Given the description of an element on the screen output the (x, y) to click on. 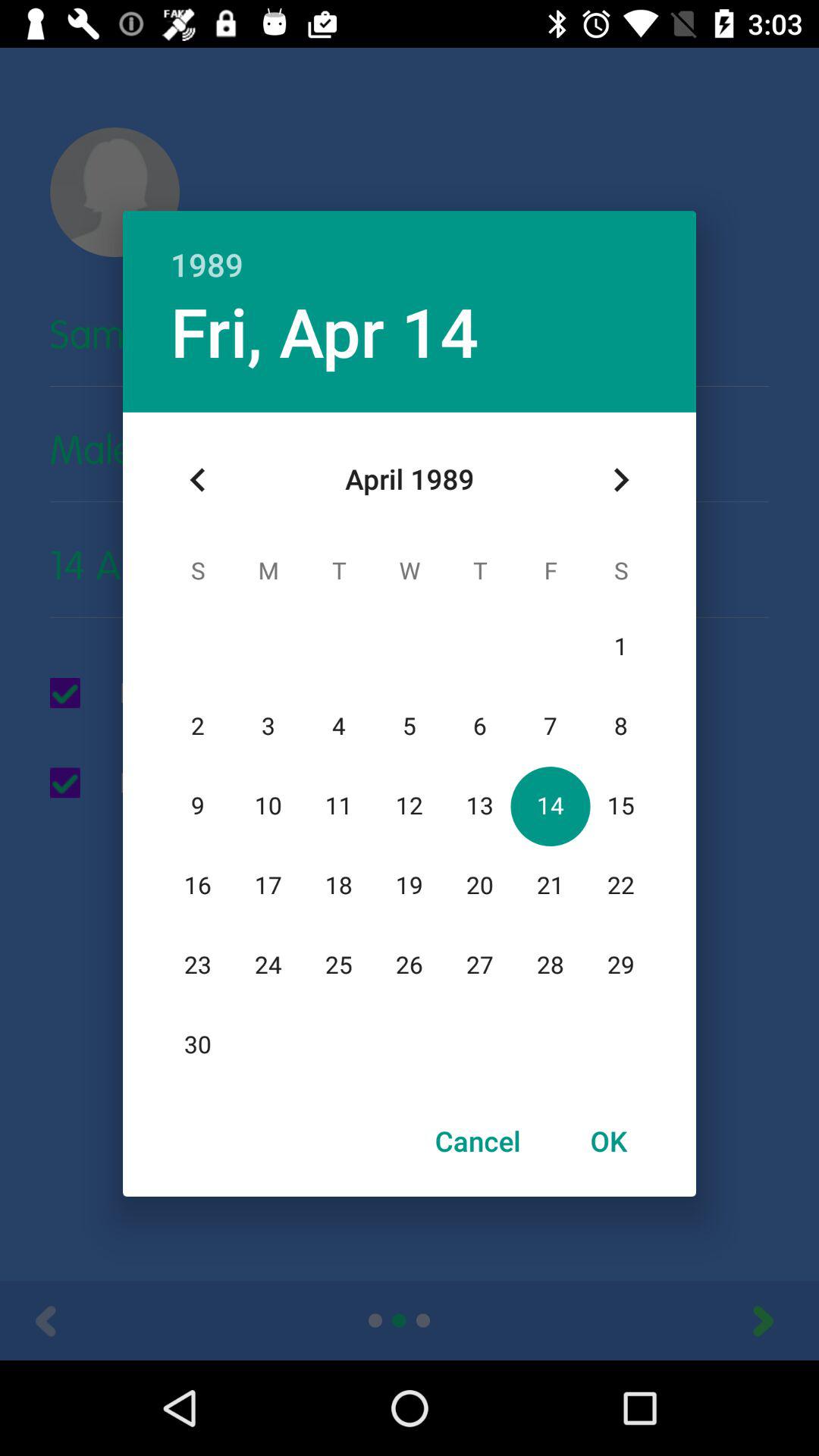
click the item at the top left corner (197, 479)
